Given the description of an element on the screen output the (x, y) to click on. 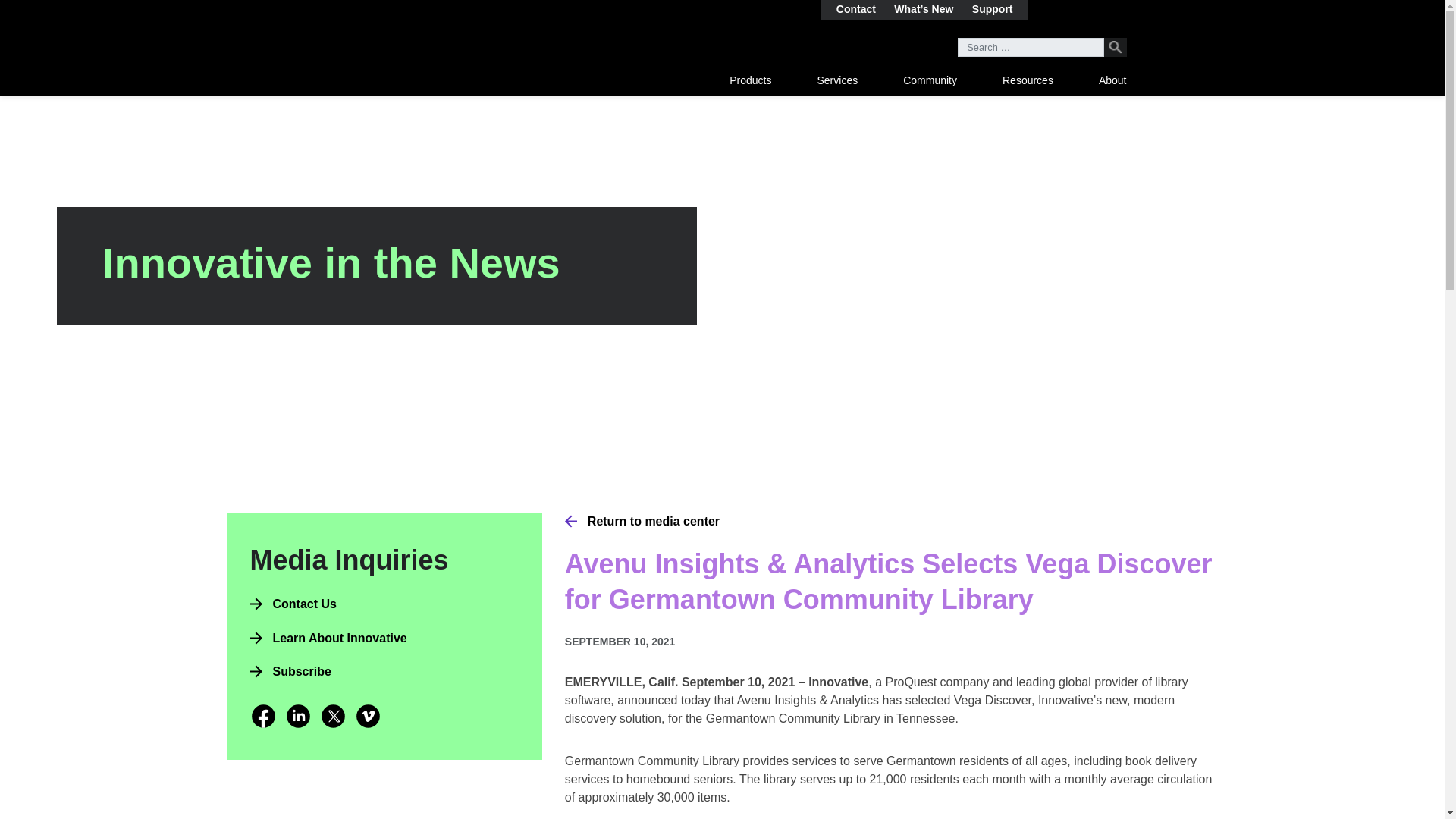
Resources (1027, 80)
Community (929, 80)
Search (1114, 46)
Search (1114, 46)
Services (837, 80)
Search (1114, 46)
Products (750, 80)
Contact (855, 9)
Support (992, 9)
About (1112, 80)
